Given the description of an element on the screen output the (x, y) to click on. 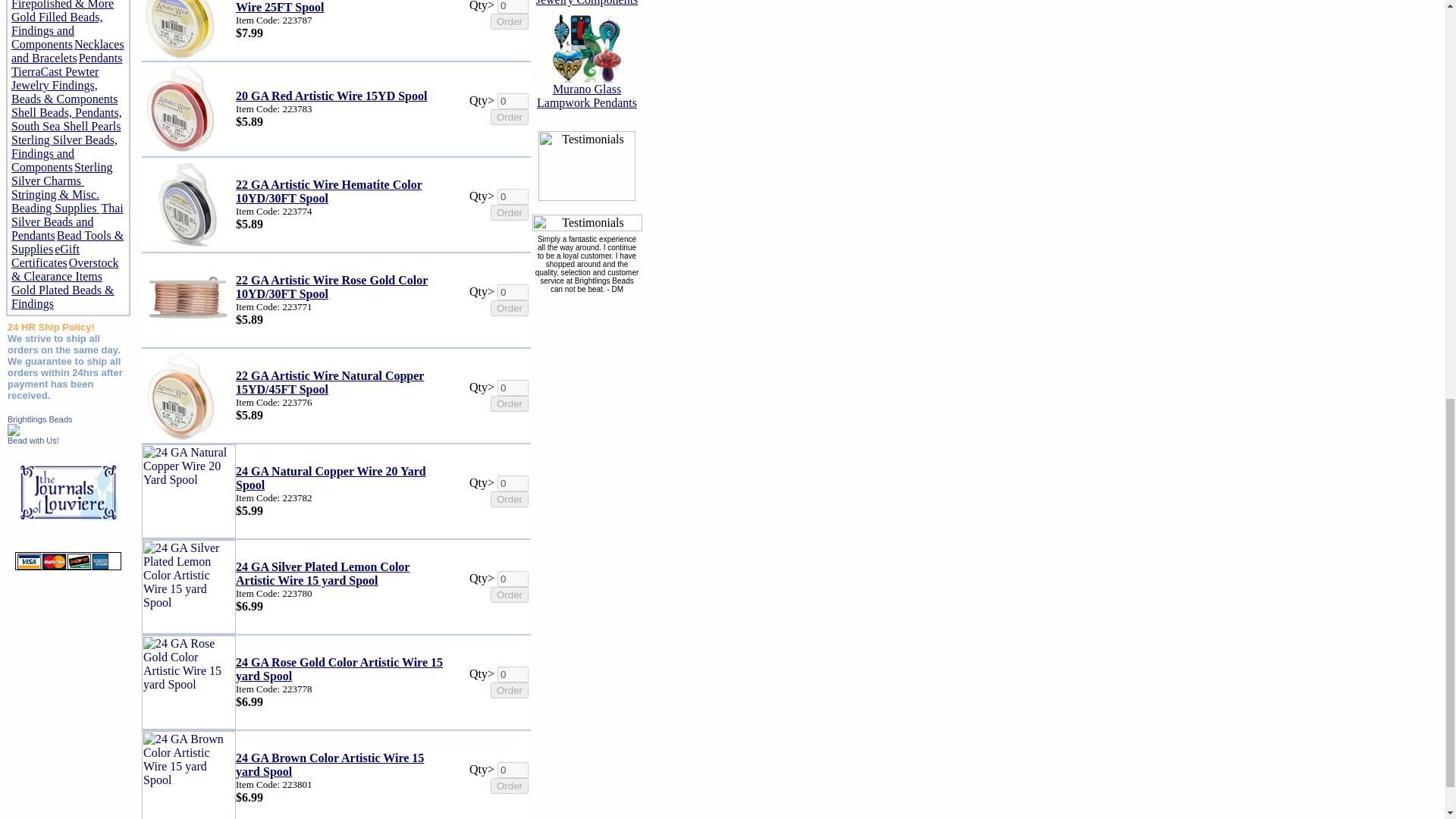
Brightlings Beads (13, 431)
0 (512, 6)
Order (509, 212)
Make your own badge! (33, 440)
Gold Filled Beads, Findings and Components (56, 30)
Brightlings Beads (39, 419)
0 (512, 292)
Order (509, 116)
Necklaces and Bracelets (67, 50)
Order (509, 21)
0 (512, 100)
Pendants (100, 57)
0 (512, 196)
